Given the description of an element on the screen output the (x, y) to click on. 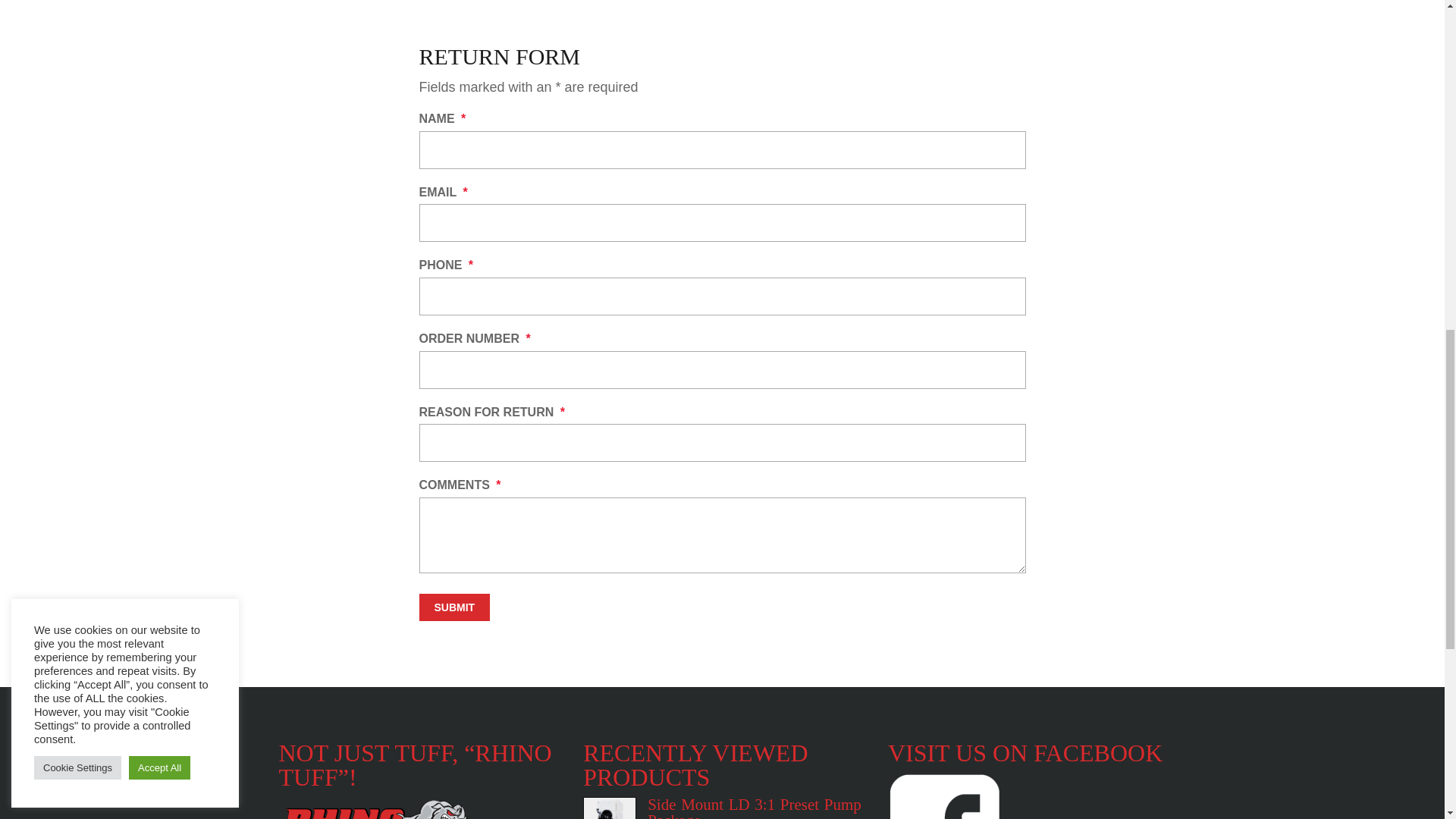
Submit (454, 606)
